Given the description of an element on the screen output the (x, y) to click on. 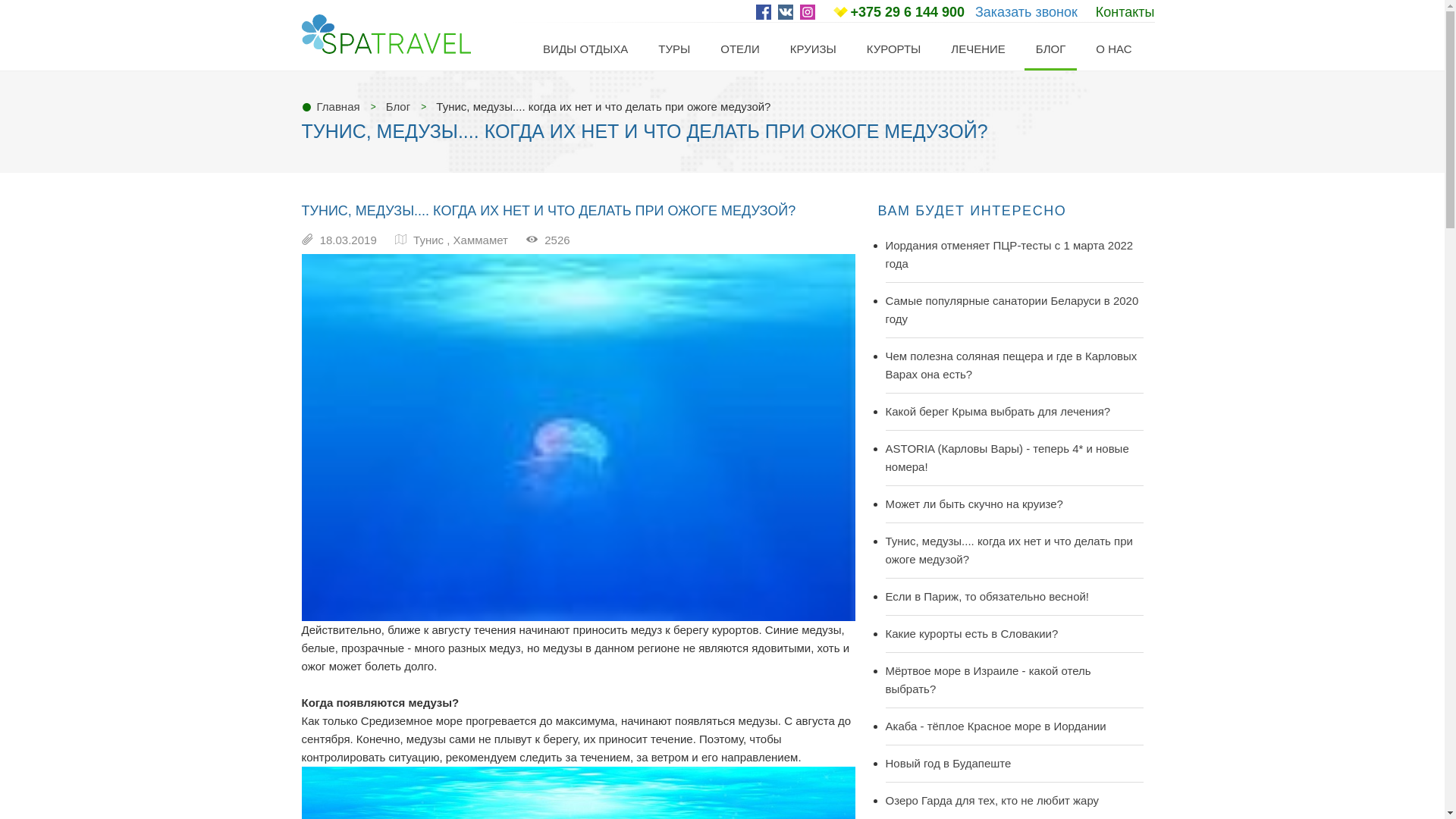
+375 29 6 144 900 Element type: text (907, 11)
